Given the description of an element on the screen output the (x, y) to click on. 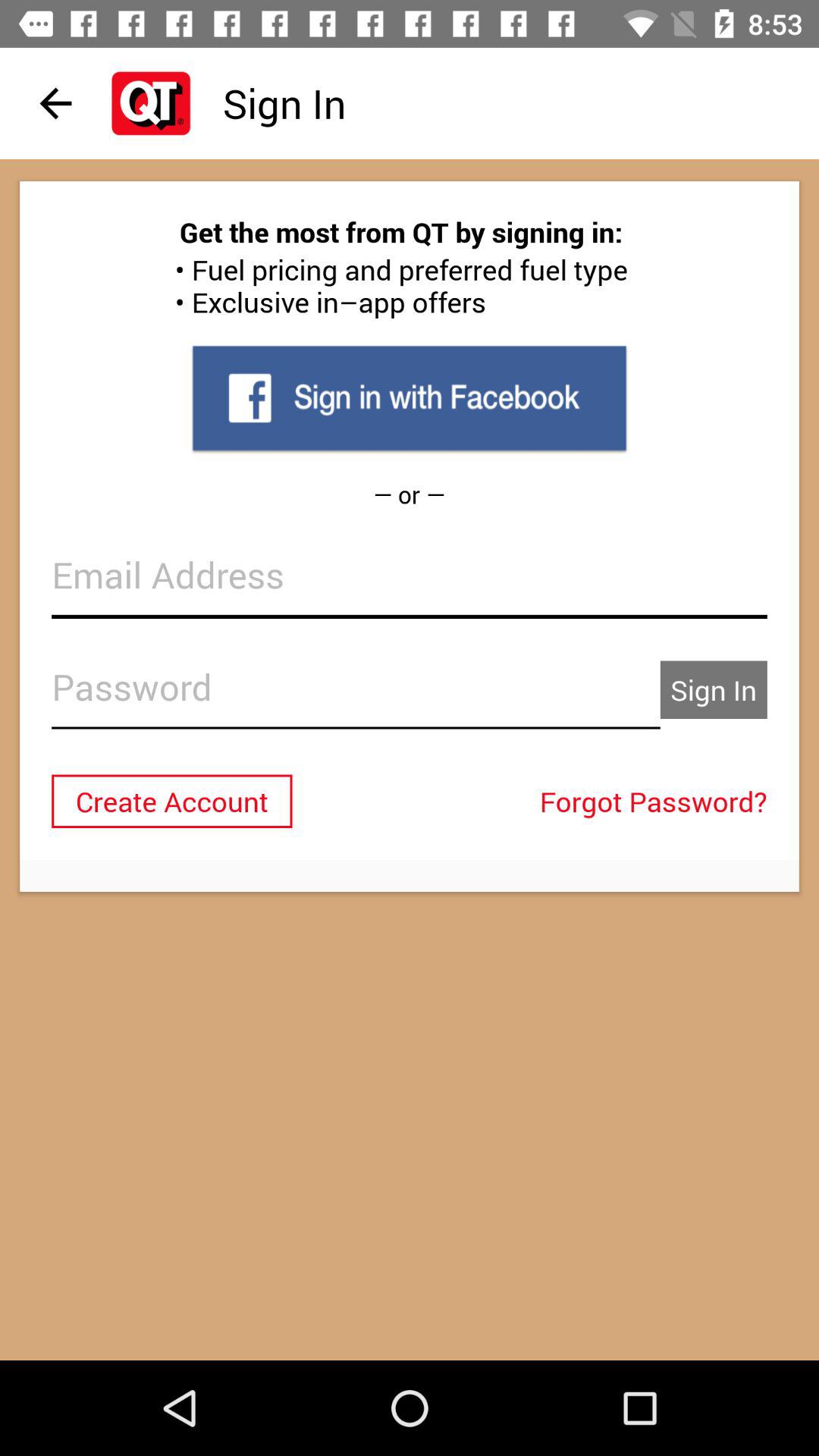
choose forgot password? icon (657, 801)
